Given the description of an element on the screen output the (x, y) to click on. 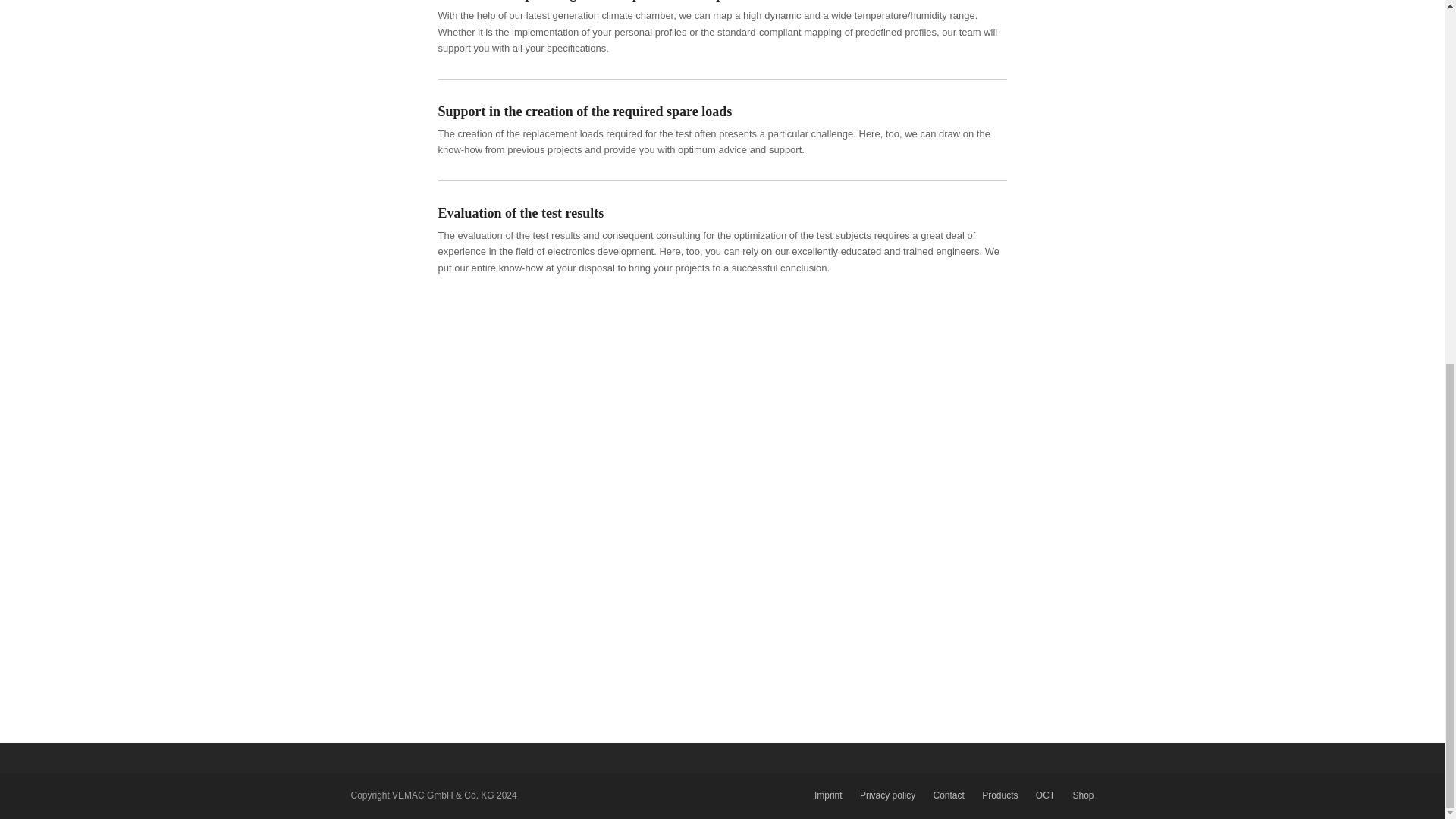
Products (999, 795)
Shop (1082, 795)
OCT (1044, 795)
Privacy policy (887, 795)
Contact (948, 795)
Imprint (828, 795)
